Given the description of an element on the screen output the (x, y) to click on. 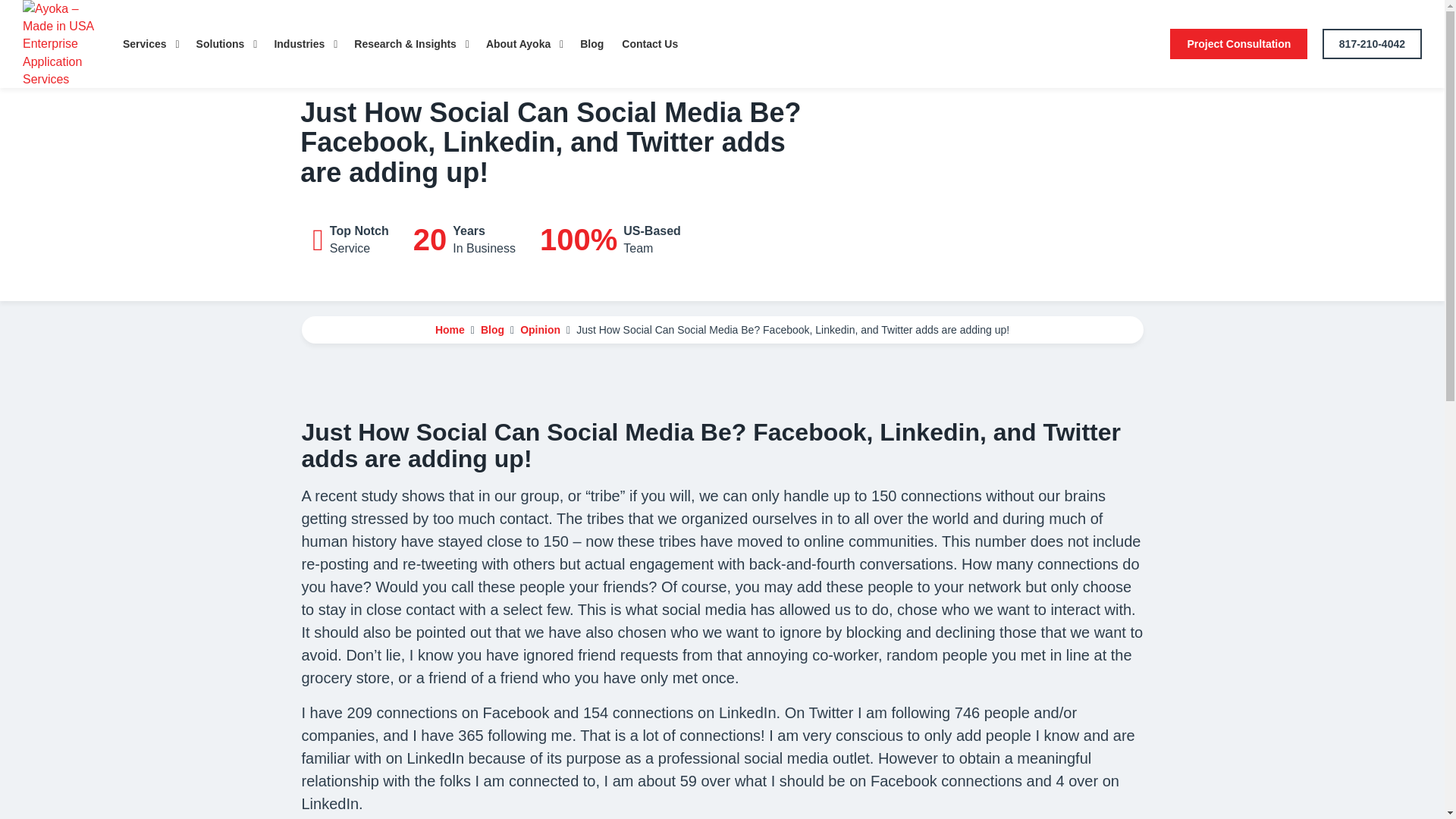
Go to the Opinion category archives. (539, 329)
Go to Ayoka - Made in USA Enterprise Application Services. (449, 329)
Solutions (225, 43)
Go to Blog. (491, 329)
Services (150, 43)
